Given the description of an element on the screen output the (x, y) to click on. 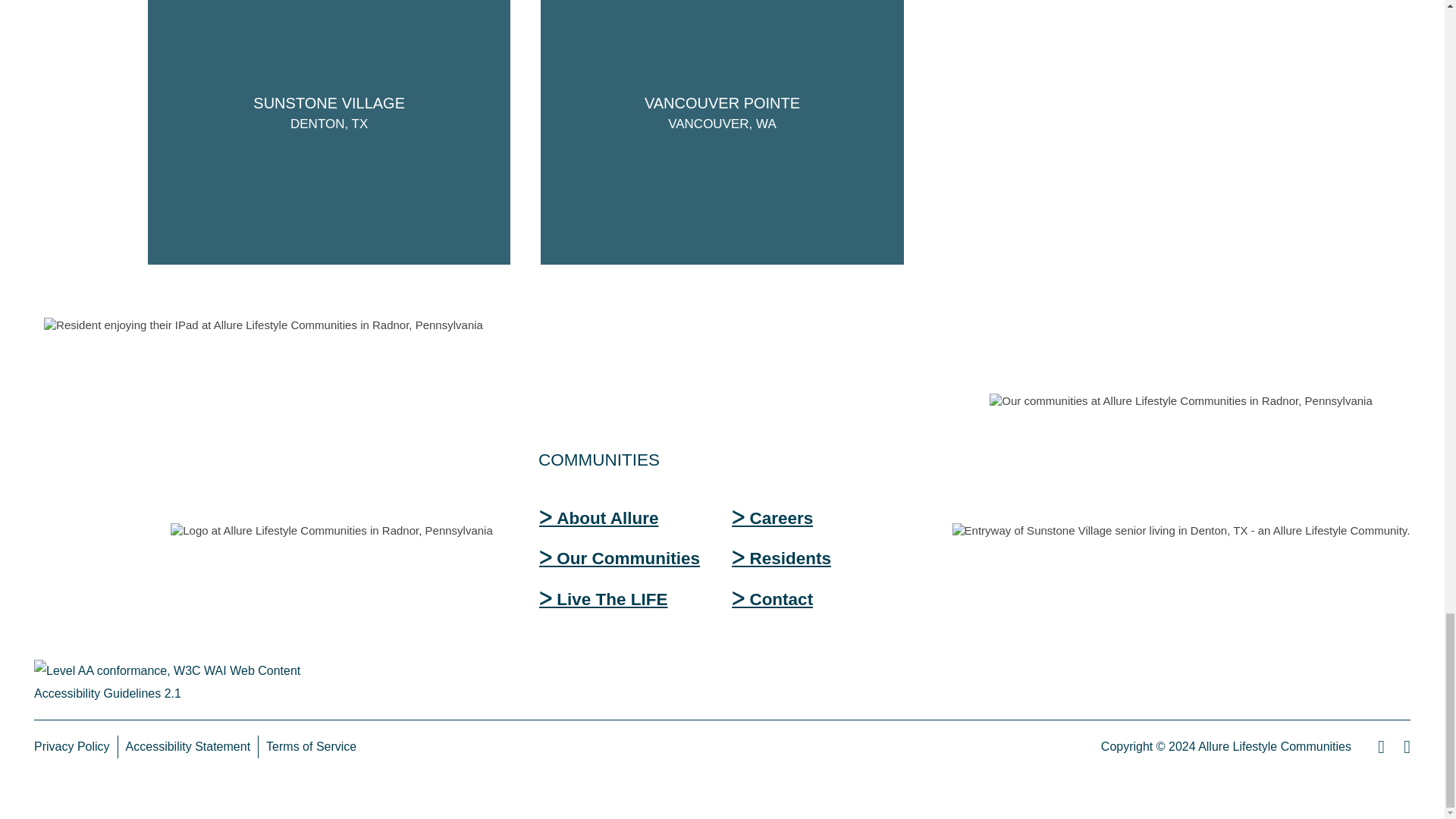
Explanation of WCAG 2 Level AA conformance (192, 682)
